Given the description of an element on the screen output the (x, y) to click on. 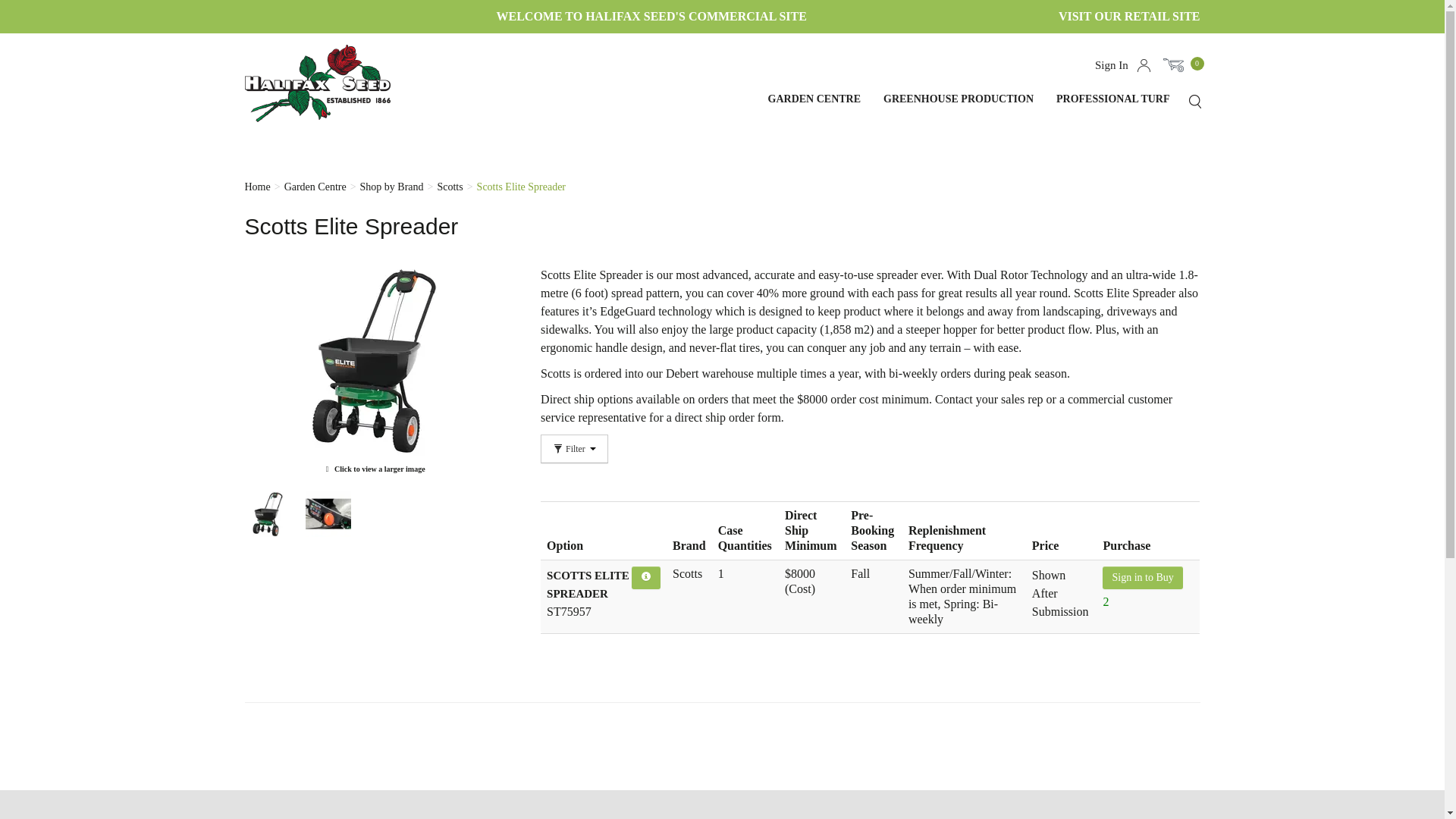
Shop by Brand (391, 185)
PROFESSIONAL TURF (1116, 112)
Scotts (449, 185)
Scotts Elite Spreader (373, 370)
Sign In (1111, 64)
Home (256, 185)
0 (1181, 65)
Garden Centre (314, 185)
GREENHOUSE PRODUCTION (962, 112)
Account (1143, 65)
Scotts Elite Spreader (521, 185)
Filter (574, 448)
Click to view a larger image (373, 370)
VISIT OUR RETAIL SITE (1128, 15)
Halifax Seed (329, 83)
